Given the description of an element on the screen output the (x, y) to click on. 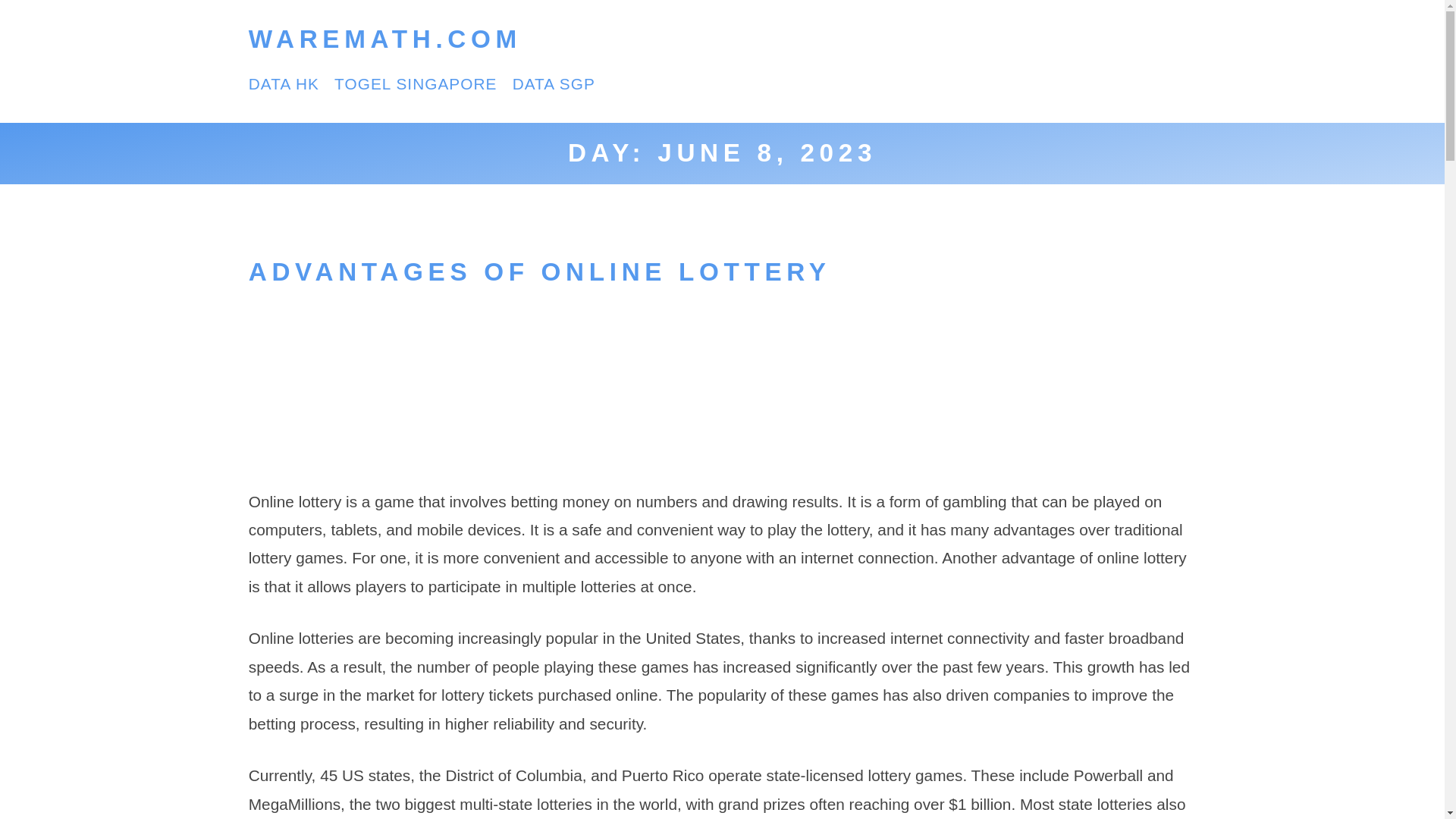
WAREMATH.COM (384, 39)
DATA SGP (553, 83)
DATA HK (283, 83)
TOGEL SINGAPORE (415, 83)
ADVANTAGES OF ONLINE LOTTERY (539, 271)
